Given the description of an element on the screen output the (x, y) to click on. 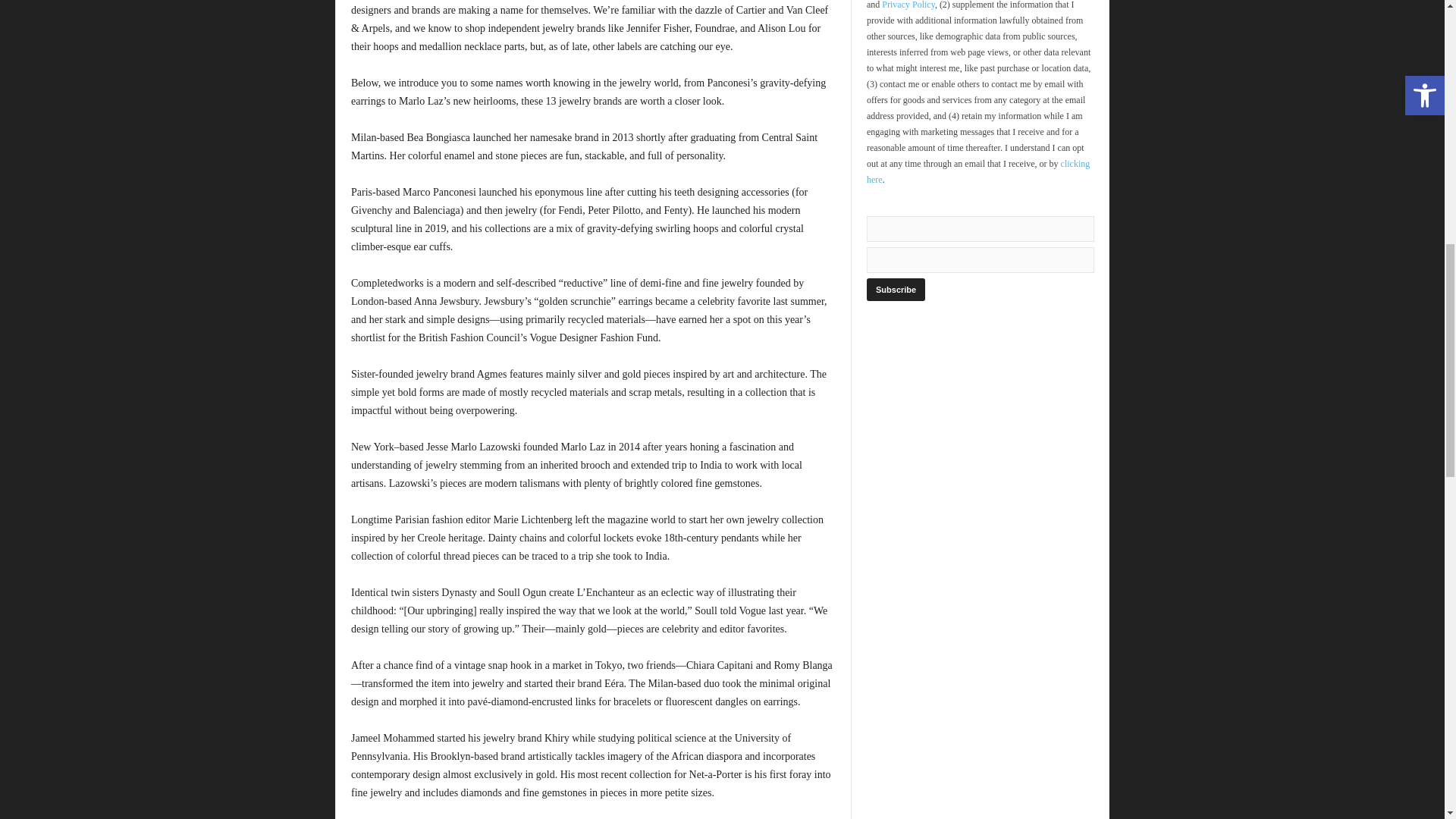
Subscribe (895, 289)
